Given the description of an element on the screen output the (x, y) to click on. 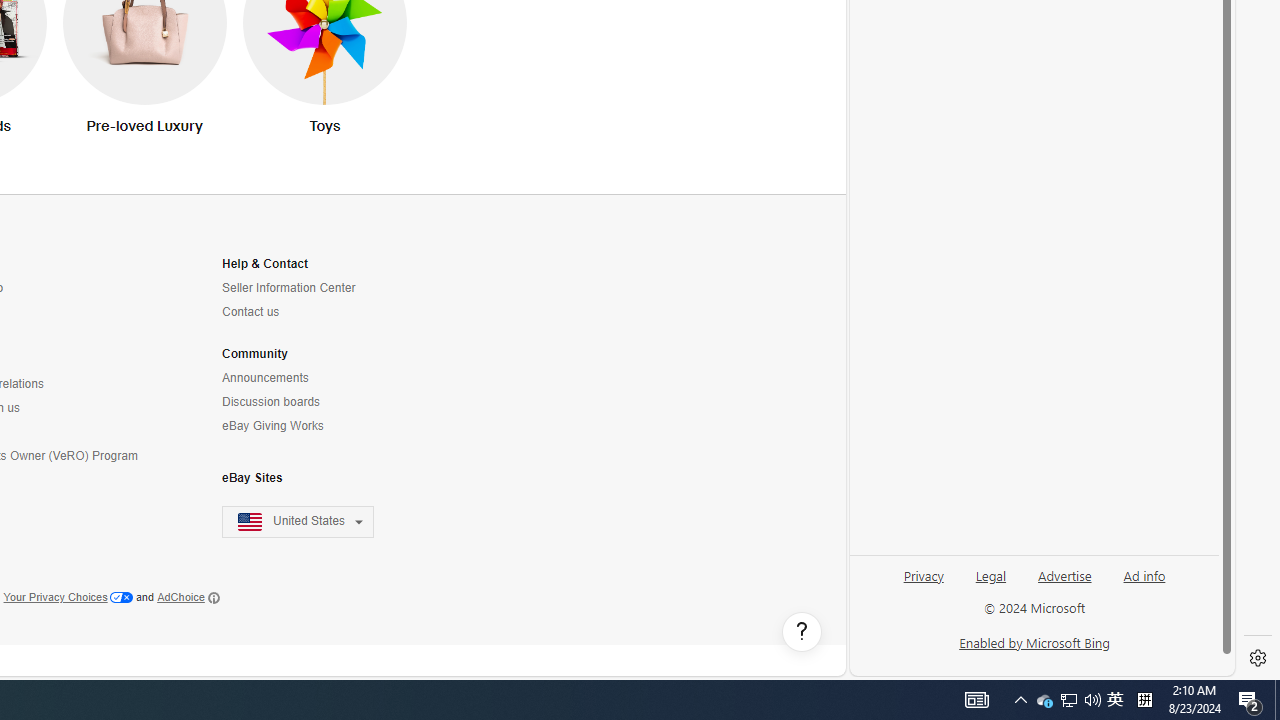
Announcements (264, 378)
United States (310, 522)
Contact us (250, 312)
AdChoice (188, 597)
Community (254, 353)
Discussion boards (271, 402)
Your Privacy Choices (67, 597)
